Given the description of an element on the screen output the (x, y) to click on. 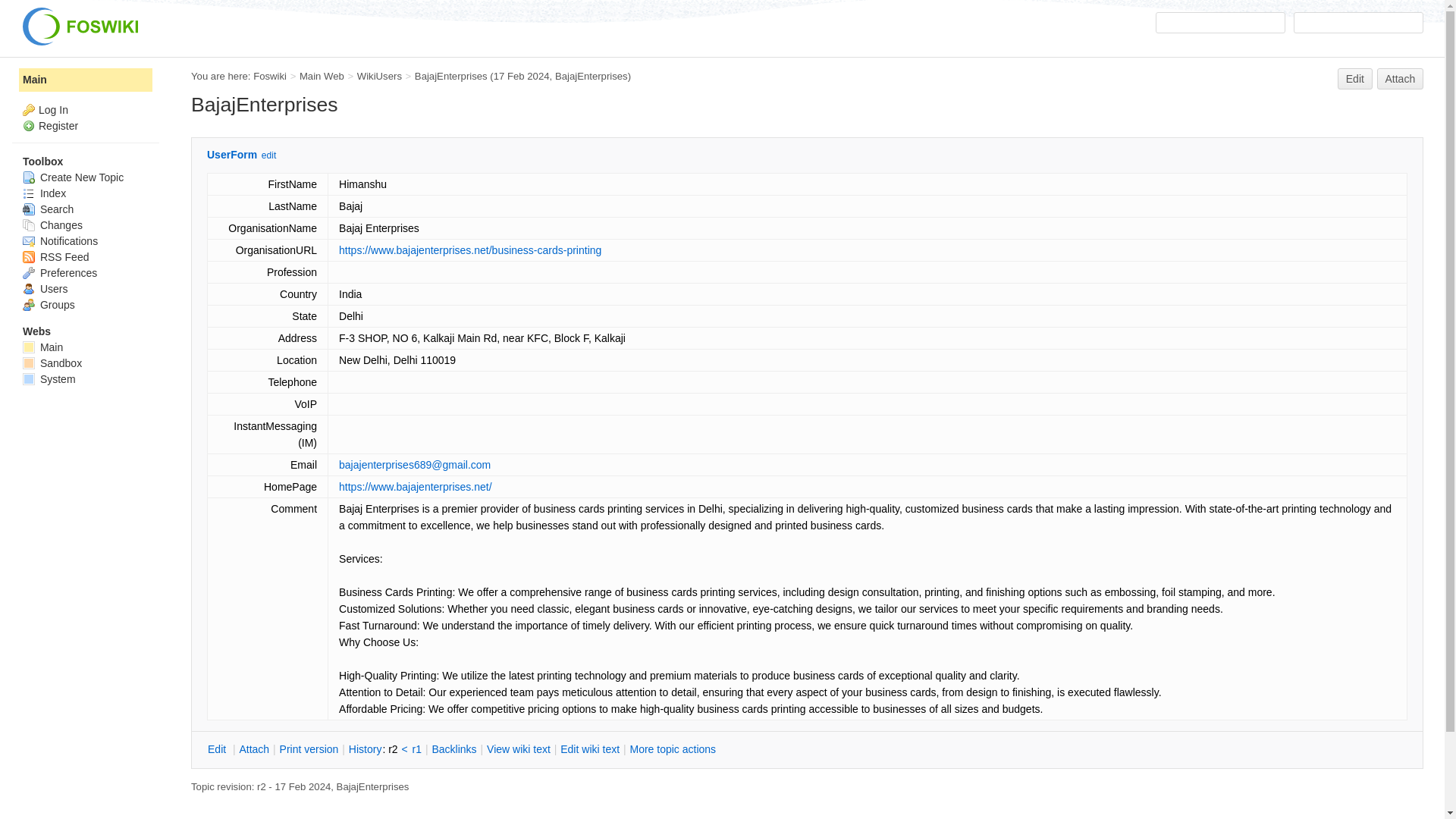
RSS Feed (55, 256)
View wiki text (518, 749)
Backlinks (453, 749)
Printable version of this topic (309, 749)
Search the Main Web for topics that link to here (453, 749)
WikiUsers (378, 75)
Search (1358, 22)
UserForm (231, 154)
Edit (218, 749)
Attach an image or document to this topic (253, 749)
BajajEnterprises (450, 75)
Edit Wiki text (589, 749)
Attach (1400, 78)
View without formatting (518, 749)
Attach (253, 749)
